Given the description of an element on the screen output the (x, y) to click on. 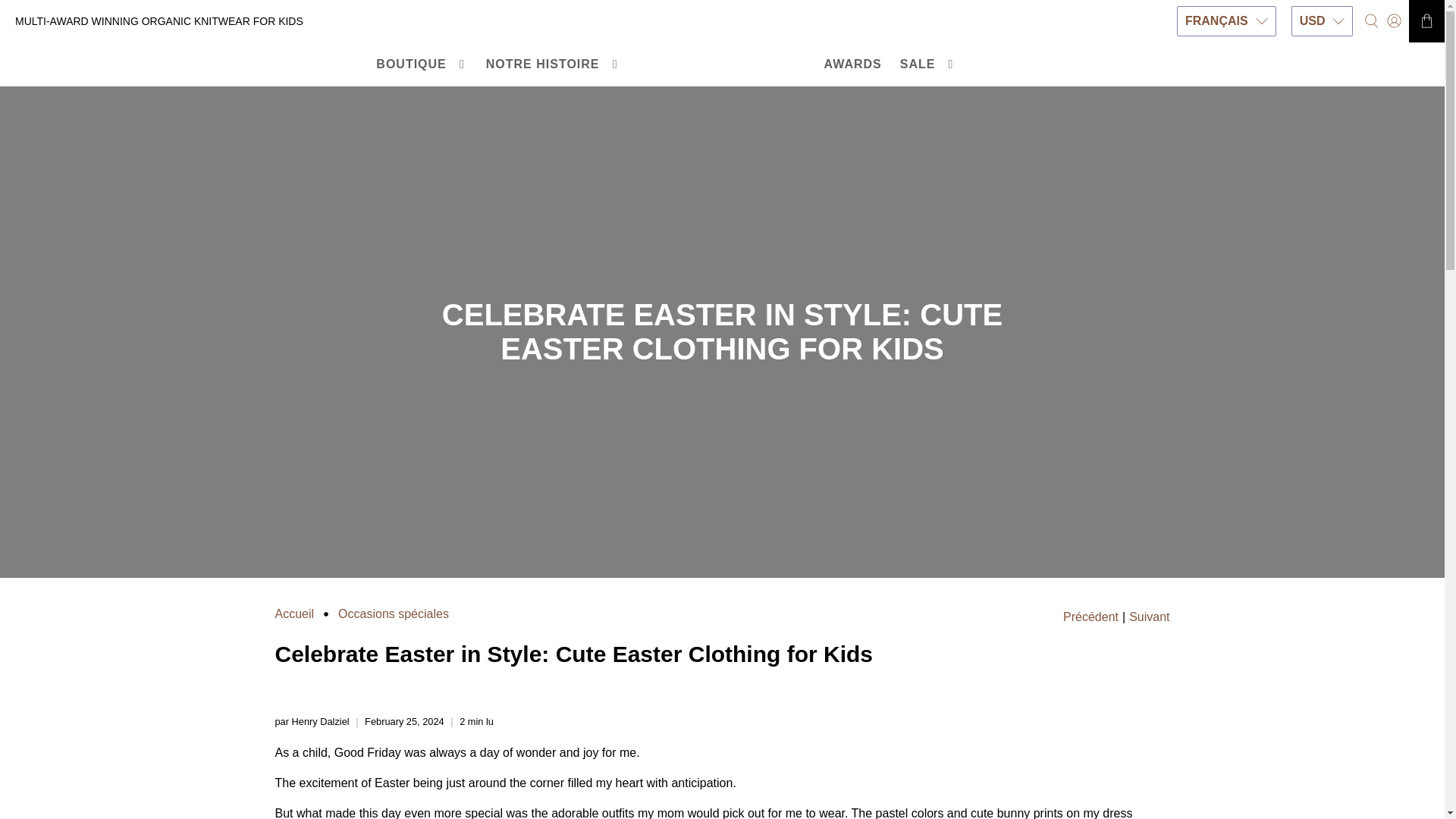
BOUTIQUE (421, 64)
EUR (1322, 200)
CAD (1322, 56)
fr (1226, 113)
Suivant (1149, 616)
INR (1322, 113)
GBP (1322, 143)
USD (1322, 85)
JPY (1322, 229)
USD (1322, 20)
